Given the description of an element on the screen output the (x, y) to click on. 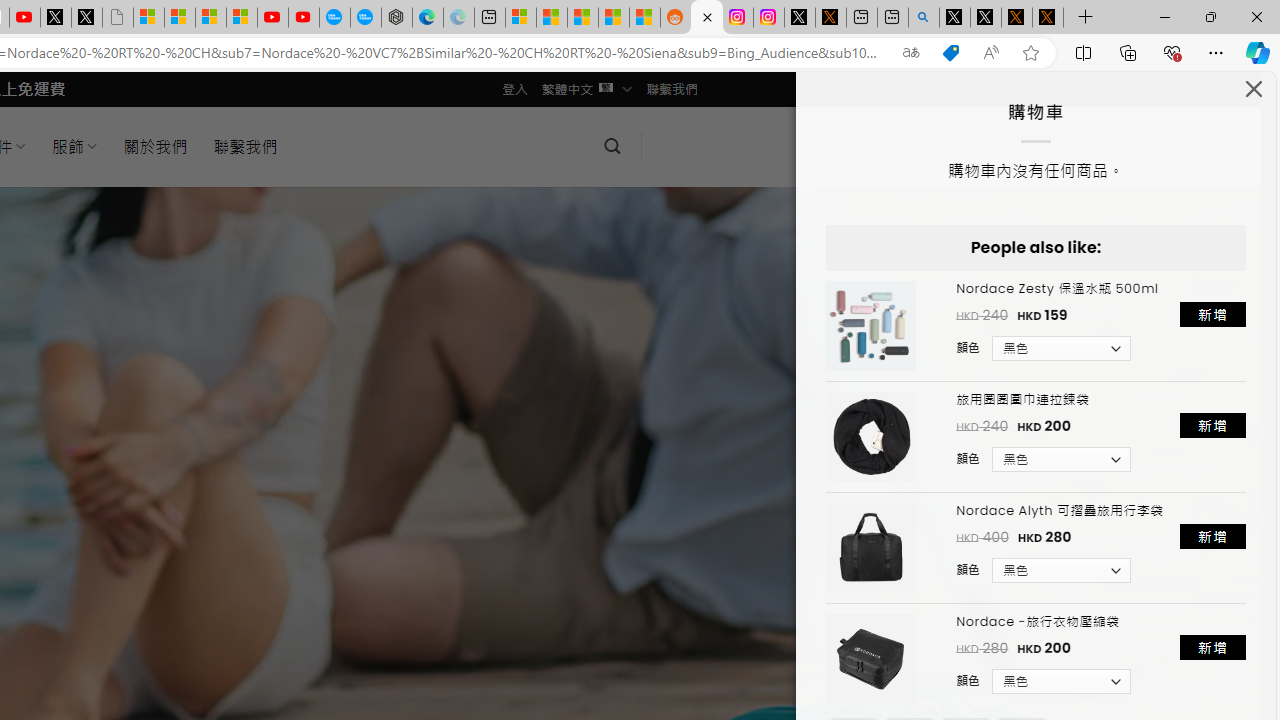
Close (Esc) (1253, 93)
